Given the description of an element on the screen output the (x, y) to click on. 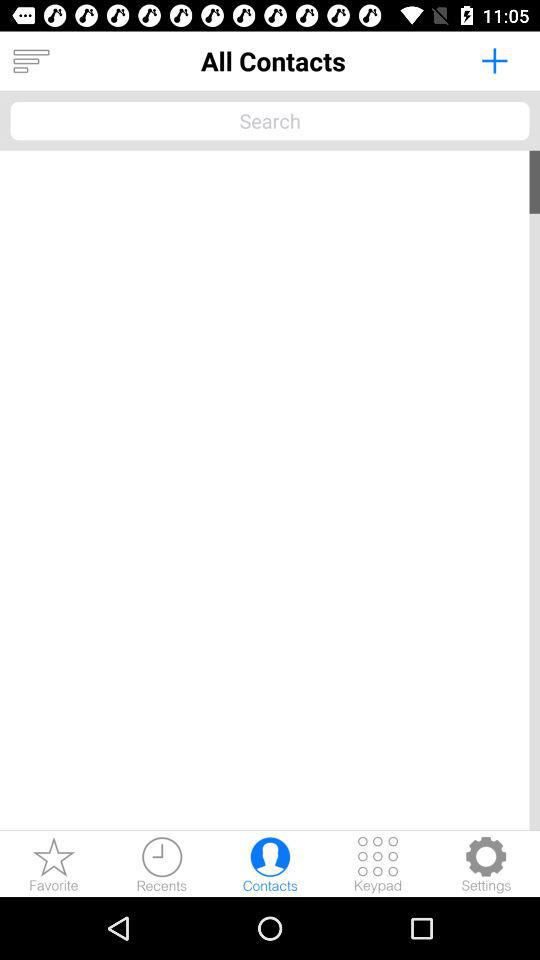
toggle keypad (377, 864)
